Given the description of an element on the screen output the (x, y) to click on. 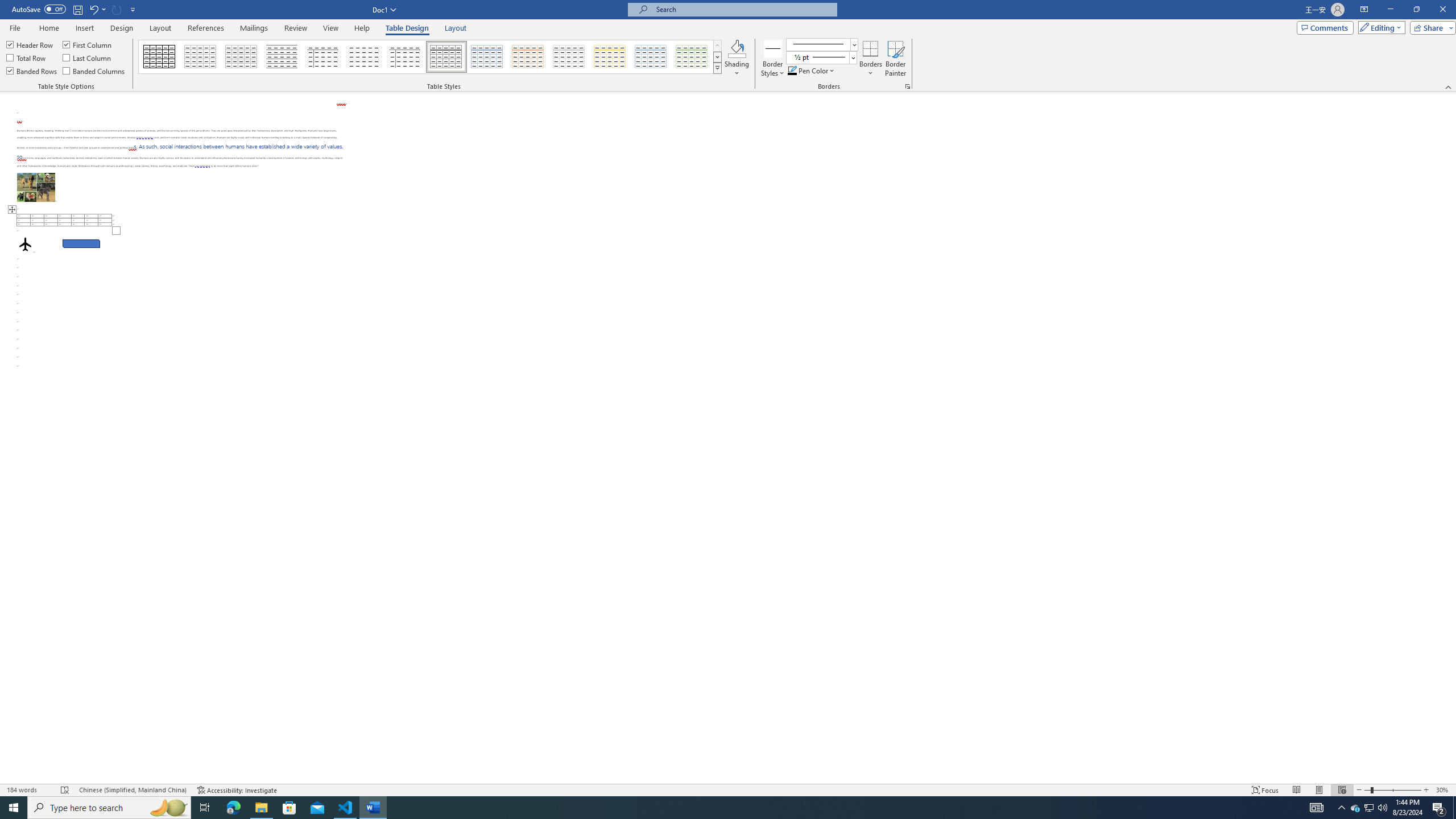
AutomationID: TableStylesGalleryWord (430, 56)
Grid Table 1 Light - Accent 1 (487, 56)
Home (48, 28)
Accessibility Checker Accessibility: Investigate (237, 790)
Collapse the Ribbon (1448, 86)
Design (122, 28)
Last Column (88, 56)
Focus  (1265, 790)
Class: MsoCommandBar (728, 45)
Zoom 30% (1443, 790)
Can't Repeat (117, 9)
Borders (870, 48)
Grid Table 1 Light - Accent 5 (650, 56)
Shading RGB(0, 0, 0) (737, 48)
Table Grid Light (200, 56)
